Given the description of an element on the screen output the (x, y) to click on. 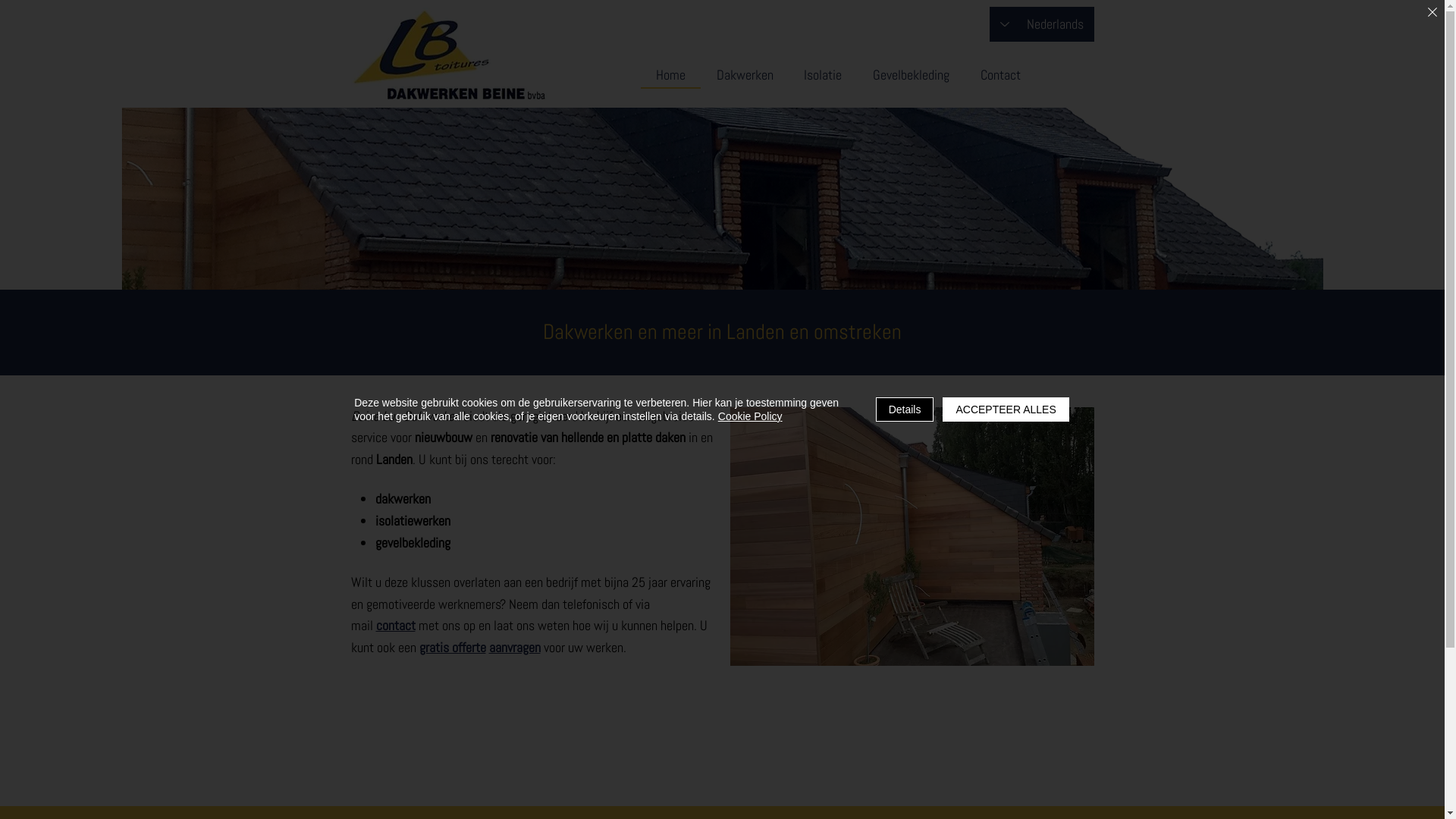
gratis offerte Element type: text (451, 646)
Home Element type: text (670, 75)
aanvragen Element type: text (513, 646)
contact Element type: text (395, 624)
Isolatie Element type: text (822, 75)
Gevelbekleding Element type: text (911, 75)
Dakwerken Element type: text (744, 75)
Contact Element type: text (1000, 75)
